Given the description of an element on the screen output the (x, y) to click on. 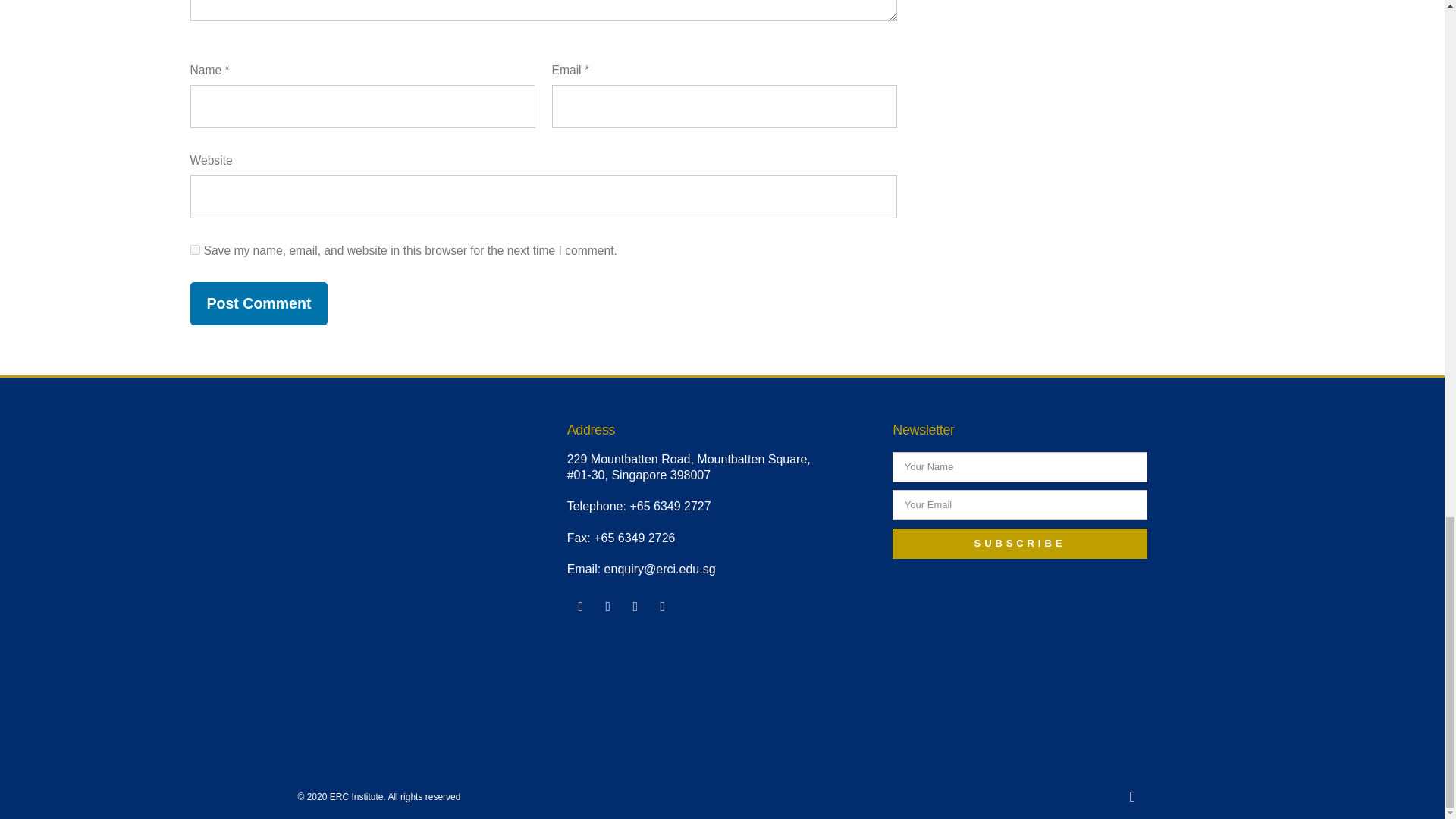
Post Comment (258, 303)
yes (194, 249)
